Given the description of an element on the screen output the (x, y) to click on. 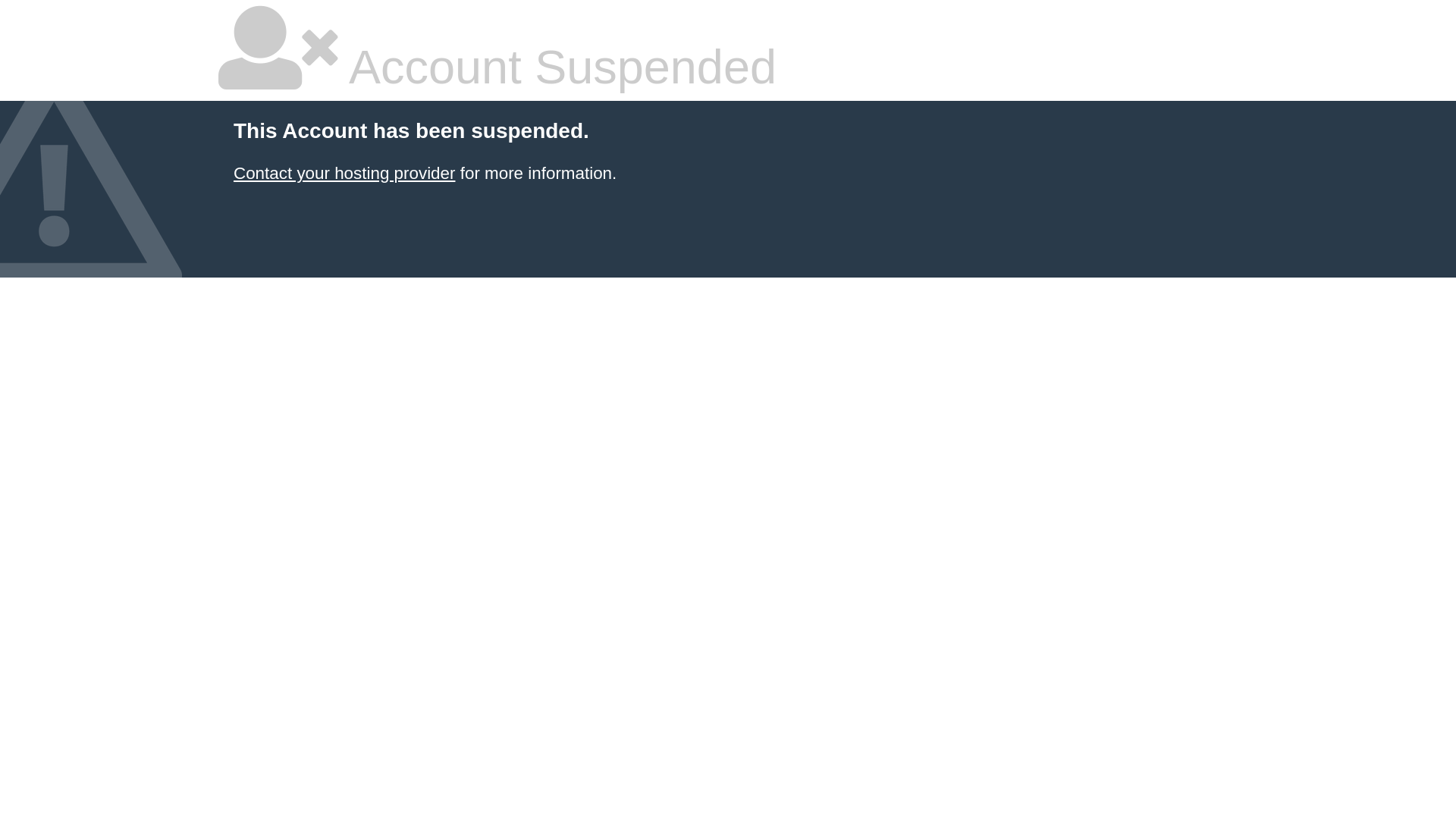
Contact your hosting provider Element type: text (344, 172)
